Given the description of an element on the screen output the (x, y) to click on. 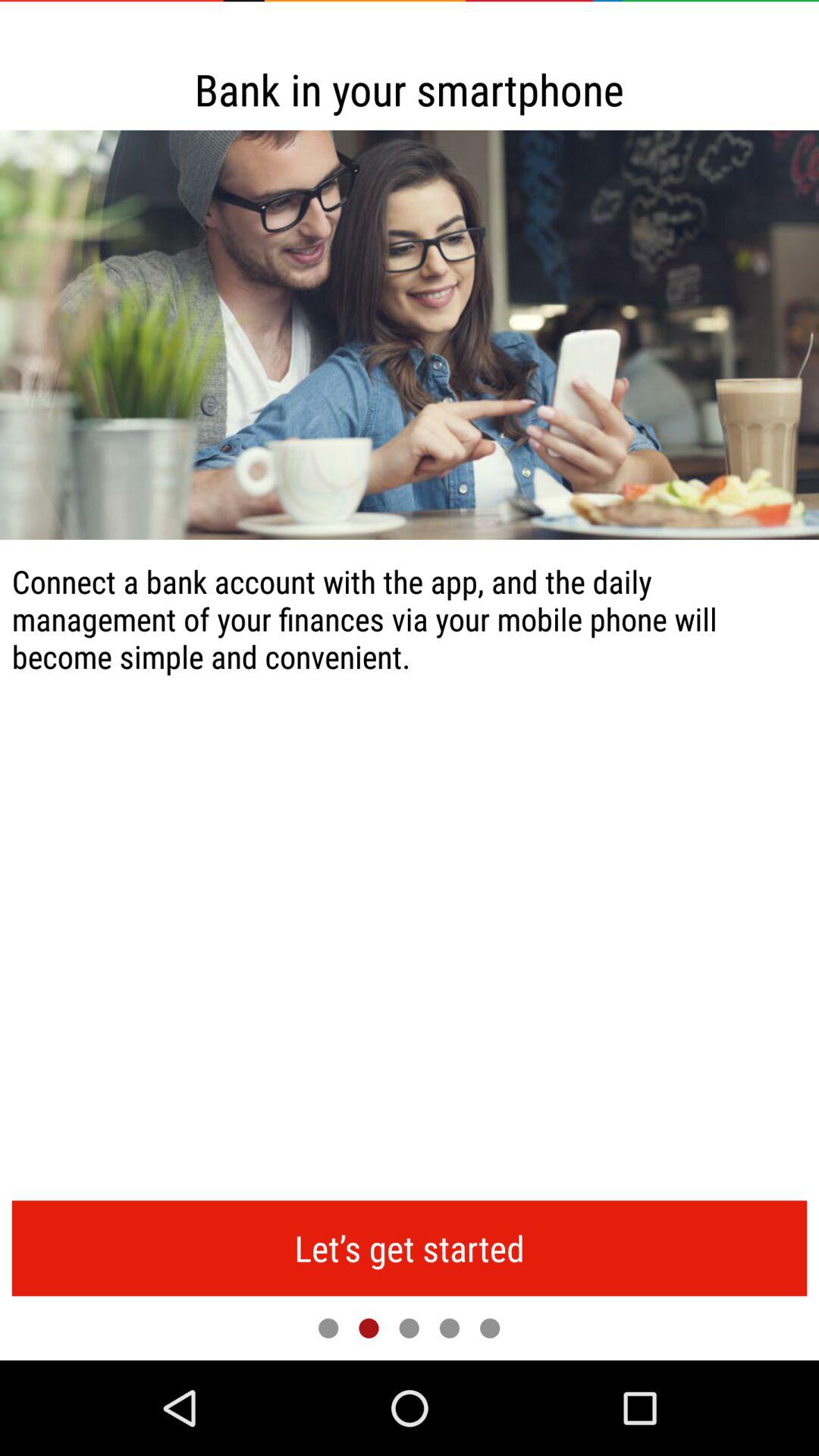
go to next slide (368, 1328)
